Given the description of an element on the screen output the (x, y) to click on. 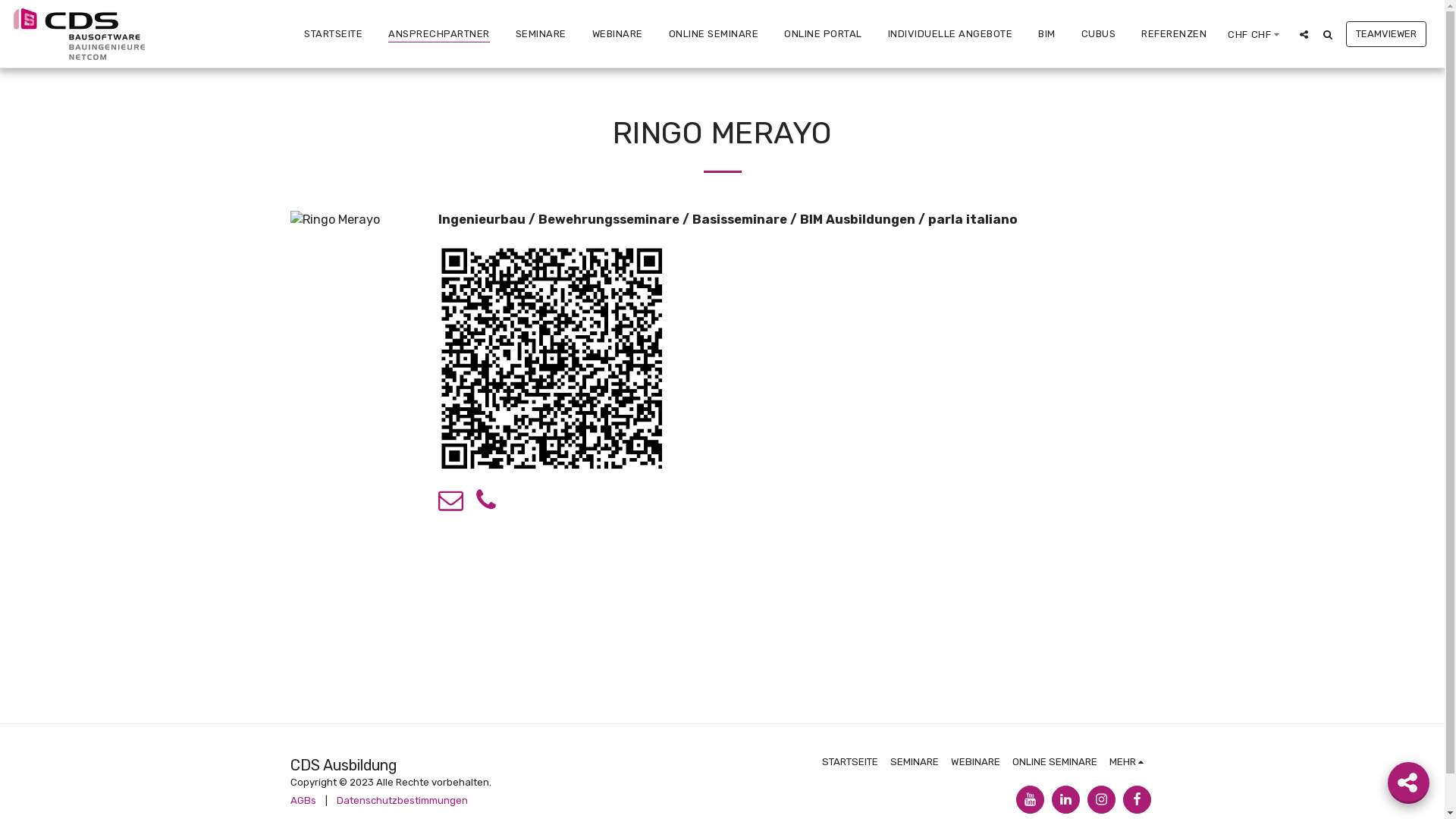
SEMINARE Element type: text (540, 32)
  Element type: text (1303, 33)
  Element type: text (1101, 799)
ONLINE SEMINARE Element type: text (713, 32)
CUBUS Element type: text (1098, 32)
TEAMVIEWER Element type: text (1385, 33)
  Element type: text (485, 504)
  Element type: text (1408, 781)
CHF
CHF
  Element type: text (1255, 33)
WEBINARE Element type: text (616, 32)
AGBs Element type: text (302, 800)
SEMINARE Element type: text (914, 761)
BIM Element type: text (1046, 32)
  Element type: text (1136, 799)
ONLINE SEMINARE Element type: text (1054, 761)
TEAMVIEWER Element type: text (1386, 34)
STARTSEITE Element type: text (332, 32)
  Element type: text (1065, 799)
  Element type: text (1030, 799)
  Element type: text (1327, 33)
ONLINE PORTAL Element type: text (822, 32)
INDIVIDUELLE ANGEBOTE Element type: text (949, 32)
WEBINARE Element type: text (975, 761)
  Element type: text (450, 504)
REFERENZEN Element type: text (1173, 32)
ANSPRECHPARTNER Element type: text (439, 32)
Datenschutzbestimmungen Element type: text (401, 800)
MEHR   Element type: text (1128, 761)
STARTSEITE Element type: text (850, 761)
